Given the description of an element on the screen output the (x, y) to click on. 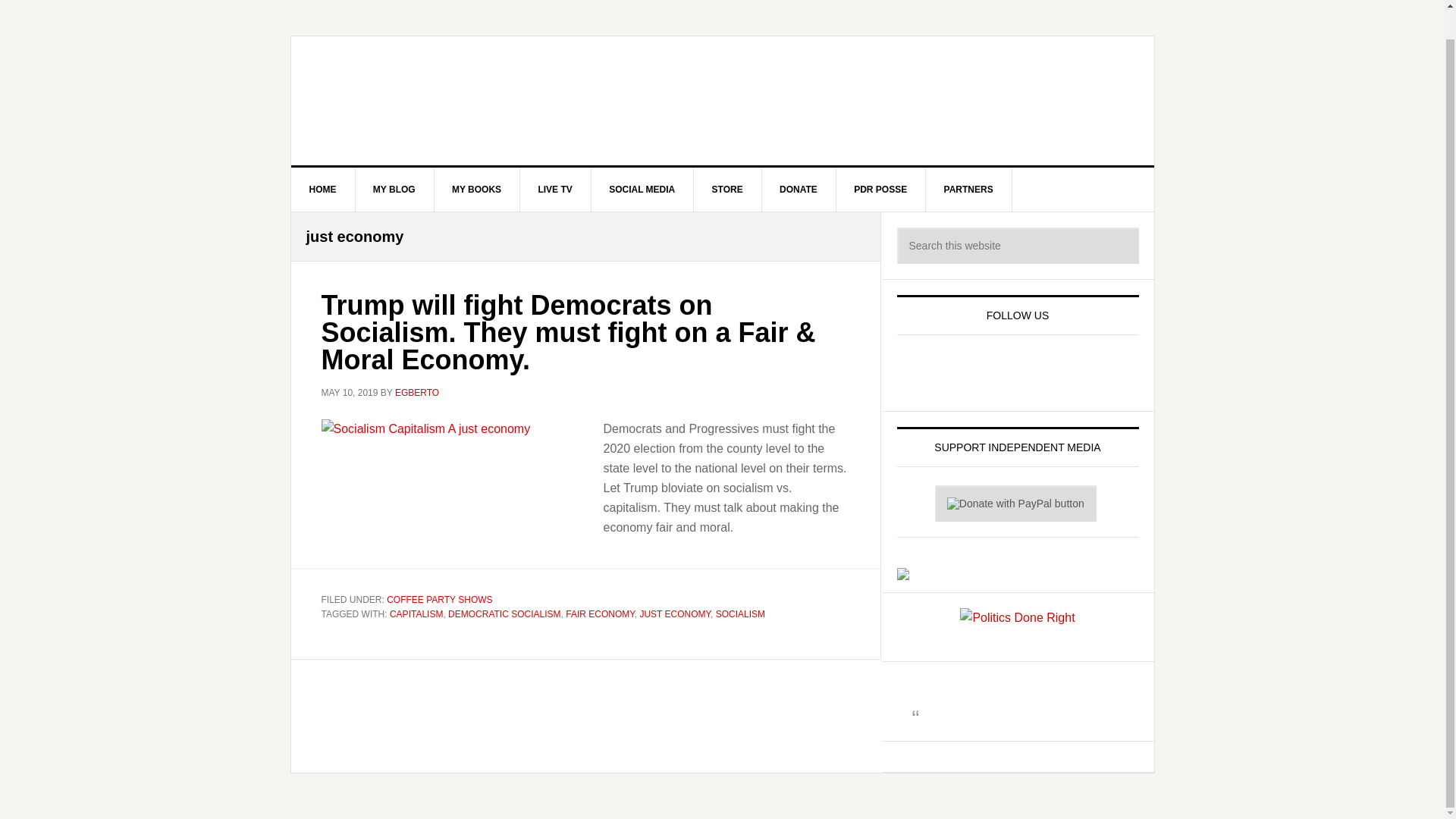
HOME (323, 189)
LIVE TV (555, 189)
POLITICS DONE RIGHT (722, 100)
SOCIAL MEDIA (642, 189)
PDR POSSE (880, 189)
DONATE (798, 189)
DEMOCRATIC SOCIALISM (504, 614)
MY BOOKS (476, 189)
PARTNERS (968, 189)
PayPal - The safer, easier way to pay online! (1015, 503)
